Given the description of an element on the screen output the (x, y) to click on. 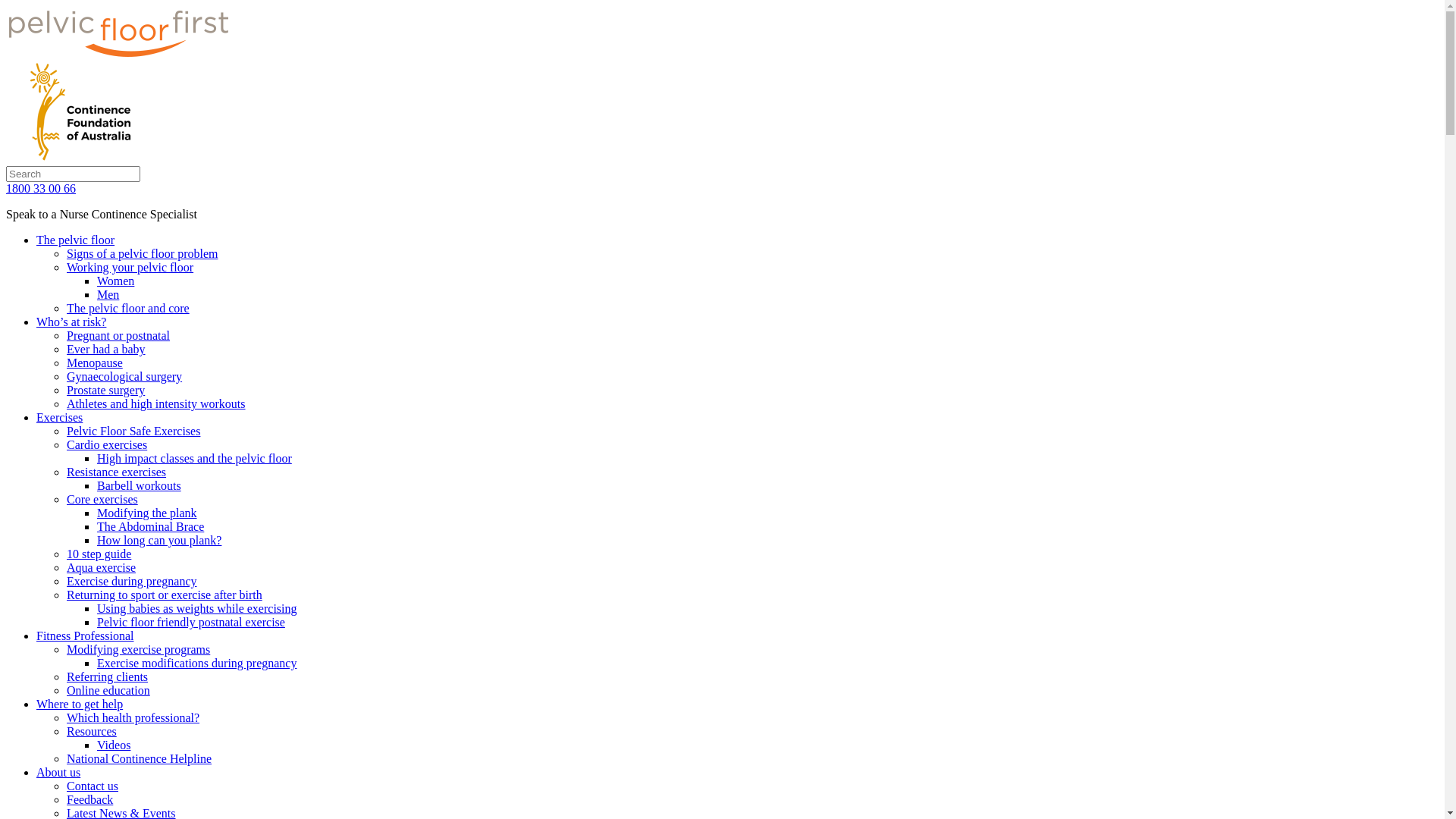
The pelvic floor and core Element type: text (127, 307)
Working your pelvic floor Element type: text (129, 266)
Online education Element type: text (108, 690)
Athletes and high intensity workouts Element type: text (155, 403)
Fitness Professional Element type: text (84, 635)
Using babies as weights while exercising Element type: text (197, 608)
Resistance exercises Element type: text (116, 471)
Pregnant or postnatal Element type: text (117, 335)
Contact us Element type: text (92, 785)
Modifying exercise programs Element type: text (138, 649)
Videos Element type: text (113, 744)
Signs of a pelvic floor problem Element type: text (142, 253)
Menopause Element type: text (94, 362)
Women Element type: text (115, 280)
Pelvic Floor Safe Exercises Element type: text (133, 430)
Returning to sport or exercise after birth Element type: text (164, 594)
Resources Element type: text (91, 730)
High impact classes and the pelvic floor Element type: text (194, 457)
Referring clients Element type: text (106, 676)
10 step guide Element type: text (98, 553)
Gynaecological surgery Element type: text (124, 376)
Cardio exercises Element type: text (106, 444)
Ever had a baby Element type: text (105, 348)
Feedback Element type: text (89, 799)
Exercises Element type: text (59, 417)
The pelvic floor Element type: text (75, 239)
The Abdominal Brace Element type: text (150, 526)
Exercise during pregnancy Element type: text (131, 580)
Pelvic floor friendly postnatal exercise Element type: text (191, 621)
About us Element type: text (58, 771)
Barbell workouts Element type: text (139, 485)
National Continence Helpline Element type: text (138, 758)
1800 33 00 66 Element type: text (40, 188)
Modifying the plank Element type: text (147, 512)
Where to get help Element type: text (79, 703)
Men Element type: text (108, 294)
Exercise modifications during pregnancy Element type: text (196, 662)
Prostate surgery Element type: text (105, 389)
Which health professional? Element type: text (132, 717)
Aqua exercise Element type: text (100, 567)
How long can you plank? Element type: text (159, 539)
Core exercises Element type: text (102, 498)
